Given the description of an element on the screen output the (x, y) to click on. 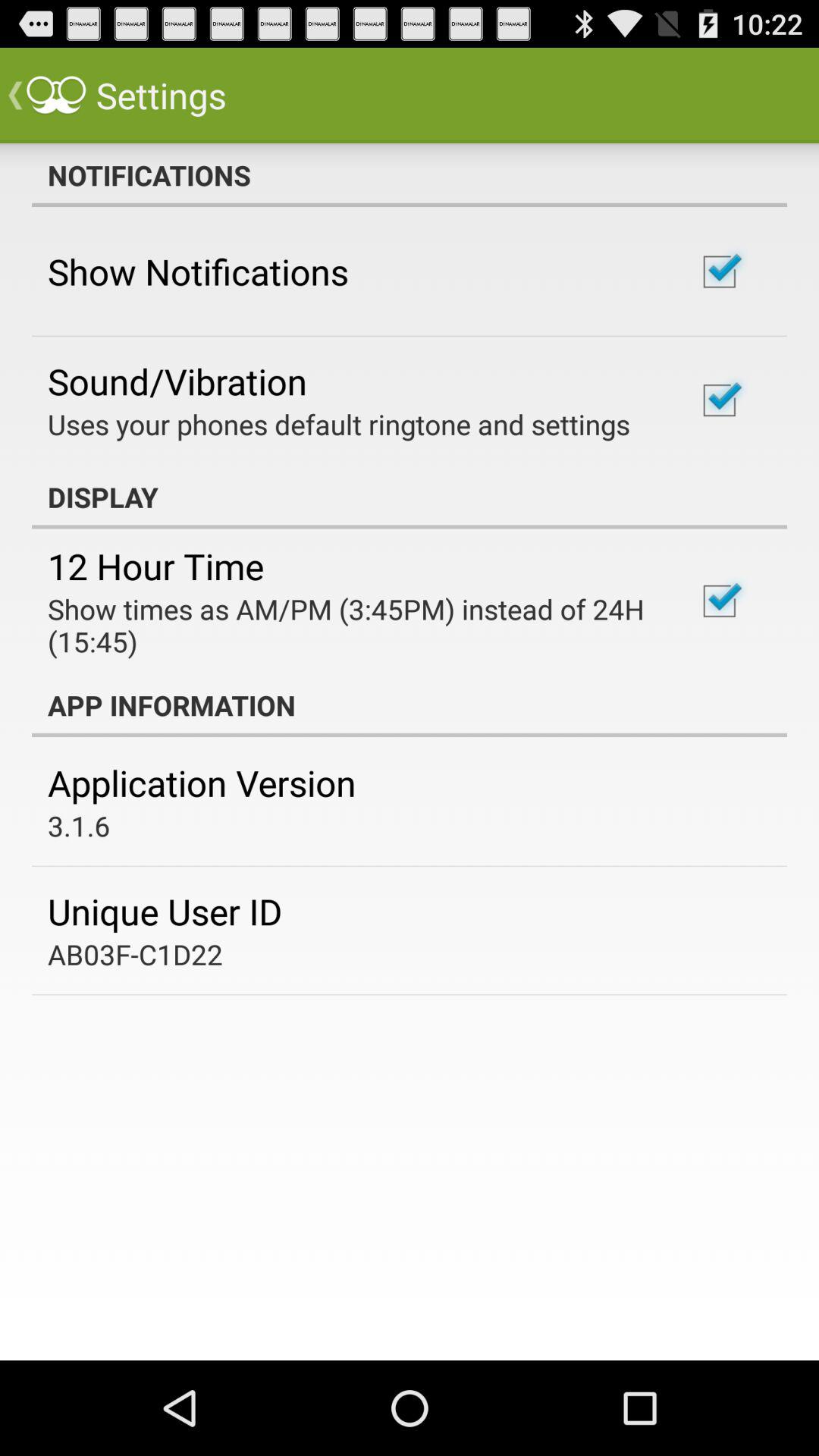
select 12 hour time item (155, 566)
